Given the description of an element on the screen output the (x, y) to click on. 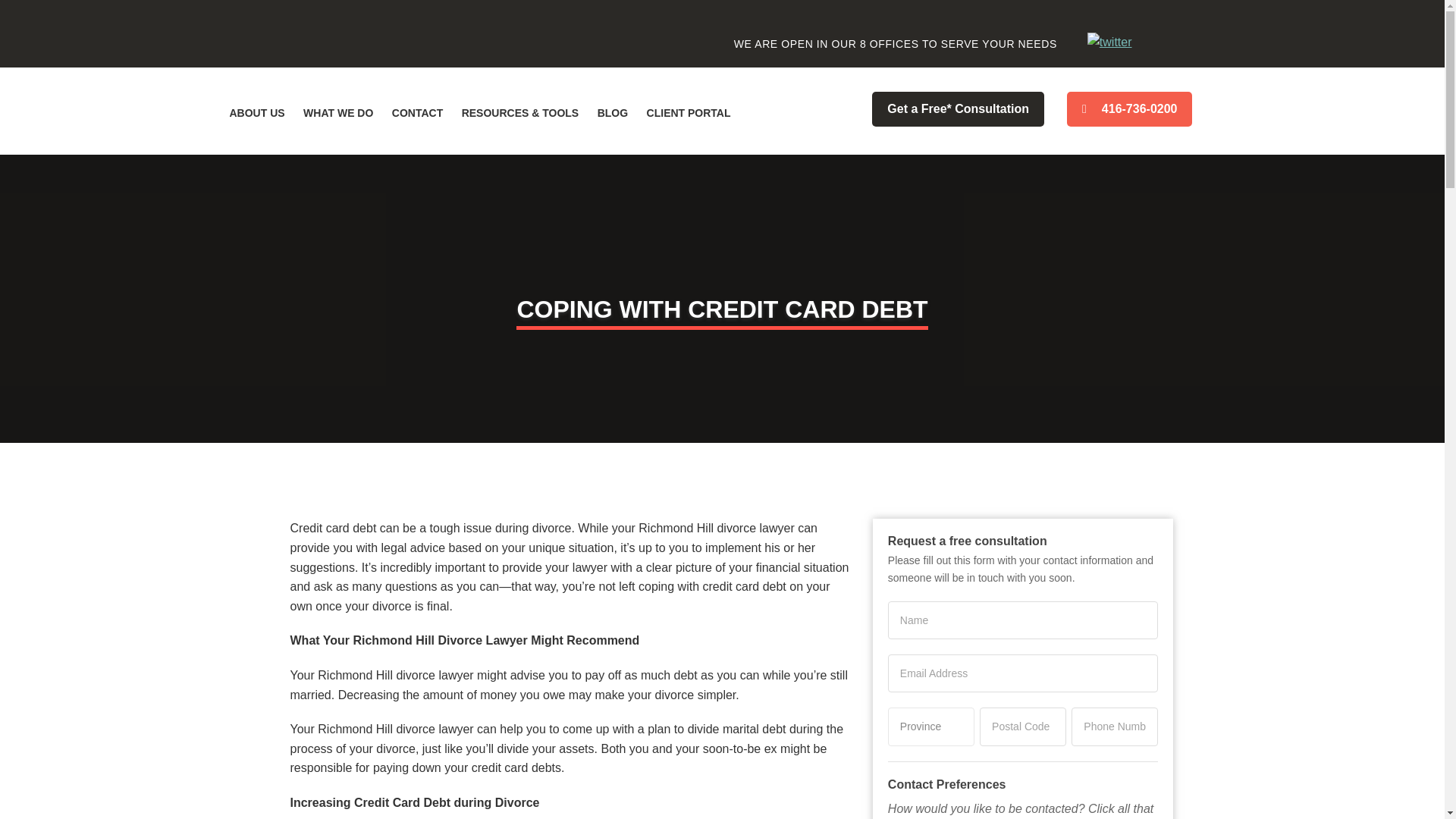
BLOG (611, 112)
416-736-0200 (1129, 108)
CLIENT PORTAL (688, 112)
CONTACT (416, 112)
ABOUT US (256, 112)
WHAT WE DO (337, 112)
